Given the description of an element on the screen output the (x, y) to click on. 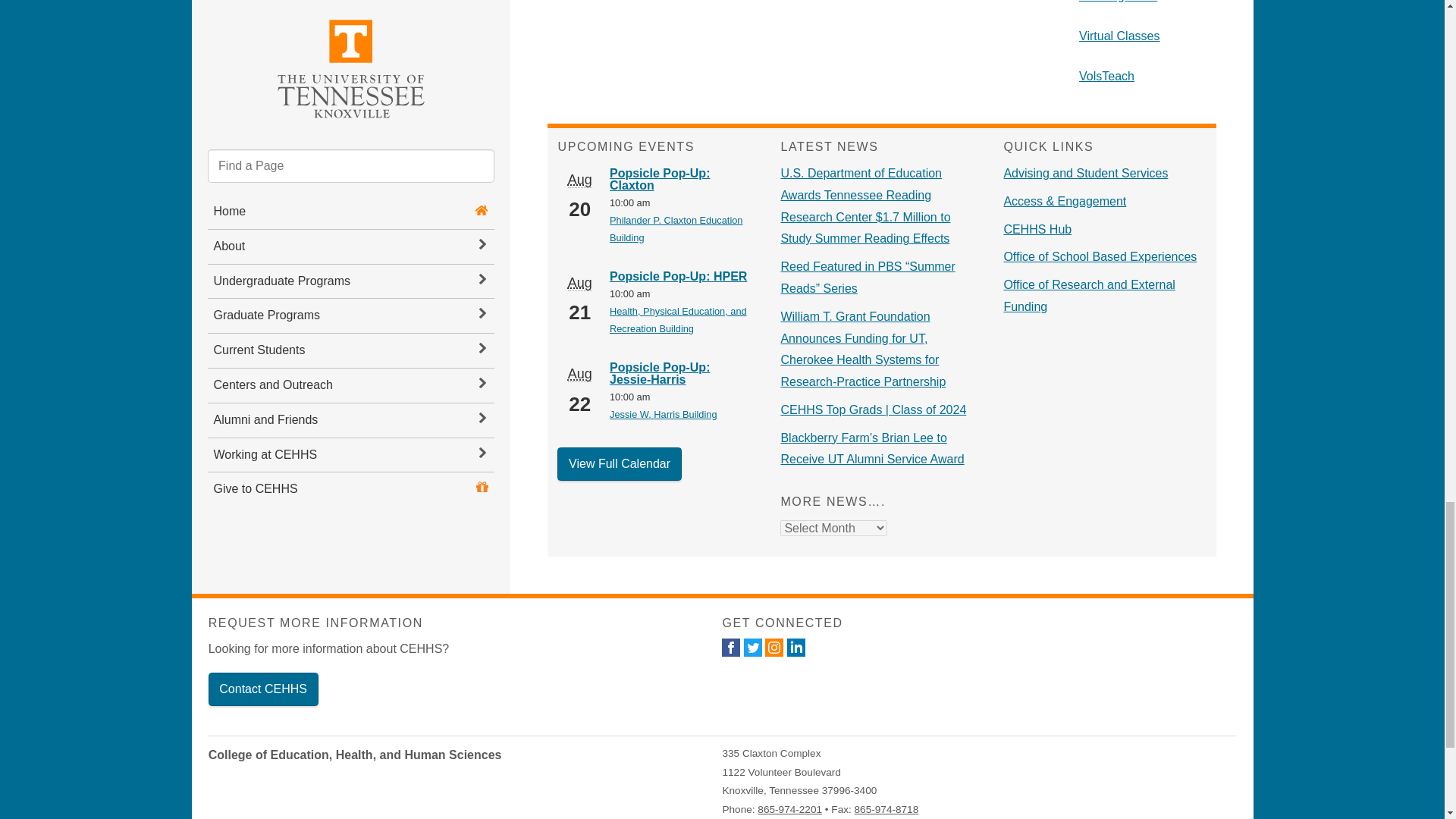
August (579, 374)
August (579, 283)
August (579, 179)
